Given the description of an element on the screen output the (x, y) to click on. 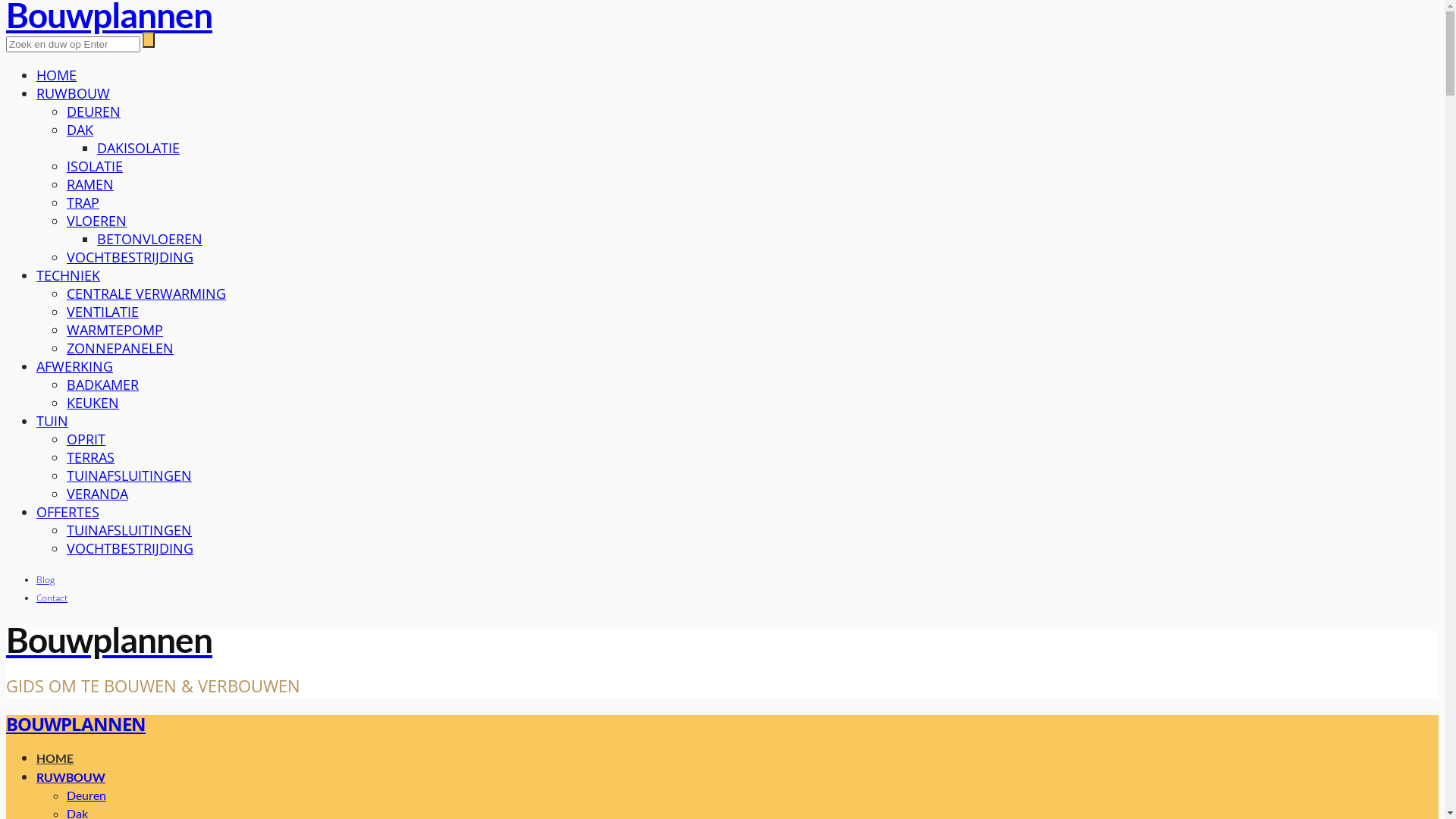
KEUKEN Element type: text (92, 402)
Contact Element type: text (51, 597)
ISOLATIE Element type: text (94, 165)
Bouwplannen Element type: text (722, 639)
HOME Element type: text (56, 74)
DAKISOLATIE Element type: text (138, 147)
OPRIT Element type: text (85, 438)
HOME Element type: text (54, 757)
WARMTEPOMP Element type: text (114, 329)
AFWERKING Element type: text (74, 366)
ZONNEPANELEN Element type: text (119, 347)
TERRAS Element type: text (90, 457)
Deuren Element type: text (86, 794)
BETONVLOEREN Element type: text (149, 238)
VENTILATIE Element type: text (102, 311)
TRAP Element type: text (82, 202)
VOCHTBESTRIJDING Element type: text (129, 548)
search for: Element type: hover (73, 44)
DEUREN Element type: text (93, 111)
RUWBOUW Element type: text (72, 93)
OFFERTES Element type: text (67, 511)
RUWBOUW Element type: text (70, 776)
BOUWPLANNEN Element type: text (75, 723)
VLOEREN Element type: text (96, 220)
VOCHTBESTRIJDING Element type: text (129, 256)
RAMEN Element type: text (89, 184)
Blog Element type: text (45, 579)
TUINAFSLUITINGEN Element type: text (128, 475)
TUIN Element type: text (52, 420)
DAK Element type: text (79, 129)
TUINAFSLUITINGEN Element type: text (128, 529)
CENTRALE VERWARMING Element type: text (145, 293)
VERANDA Element type: text (97, 493)
BADKAMER Element type: text (102, 384)
TECHNIEK Element type: text (68, 275)
